Given the description of an element on the screen output the (x, y) to click on. 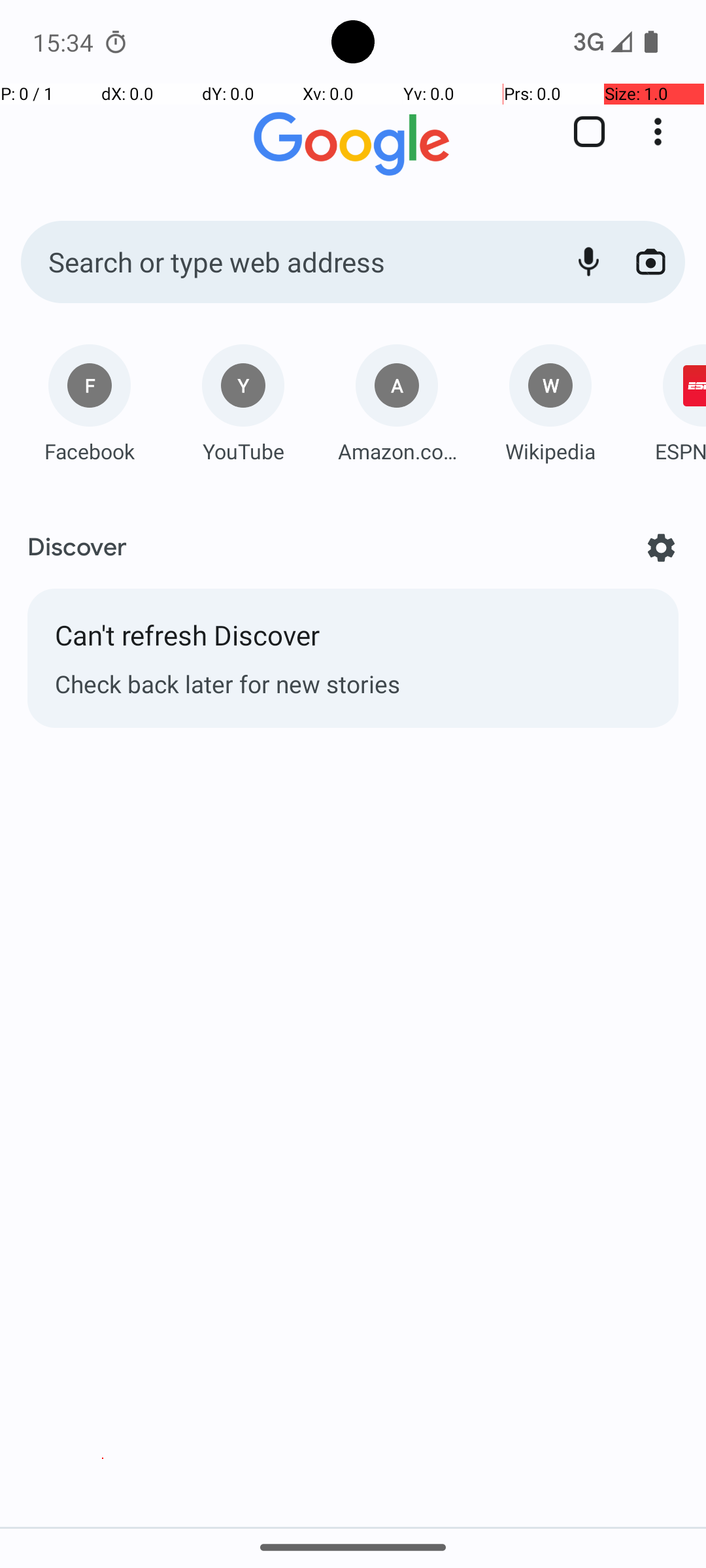
Can't refresh Discover Element type: android.widget.TextView (352, 641)
Check back later for new stories Element type: android.widget.TextView (352, 683)
